Given the description of an element on the screen output the (x, y) to click on. 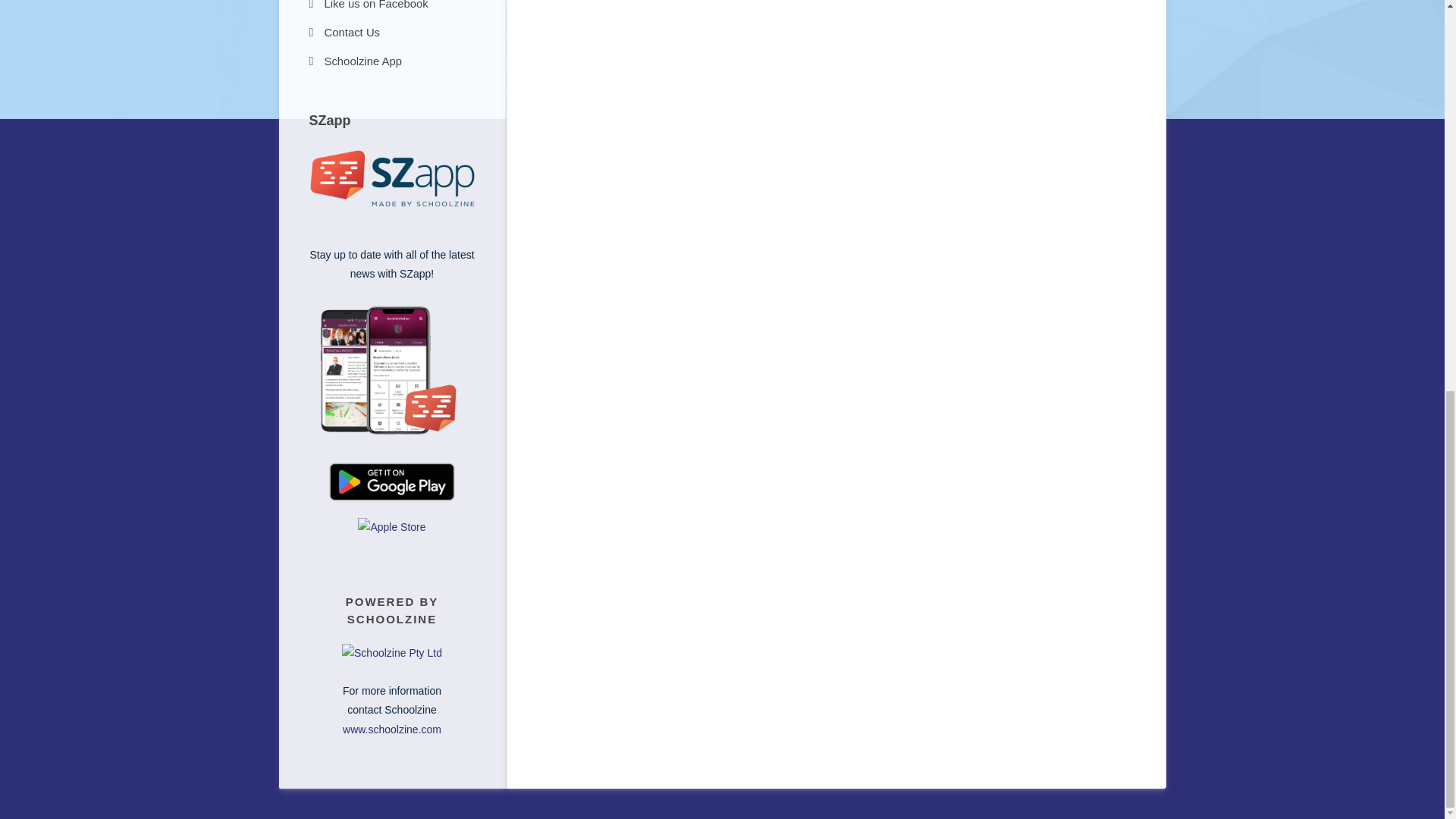
Contact Us (392, 32)
Like us on Facebook (392, 7)
Schoolzine App (392, 61)
www.schoolzine.com (391, 729)
